Given the description of an element on the screen output the (x, y) to click on. 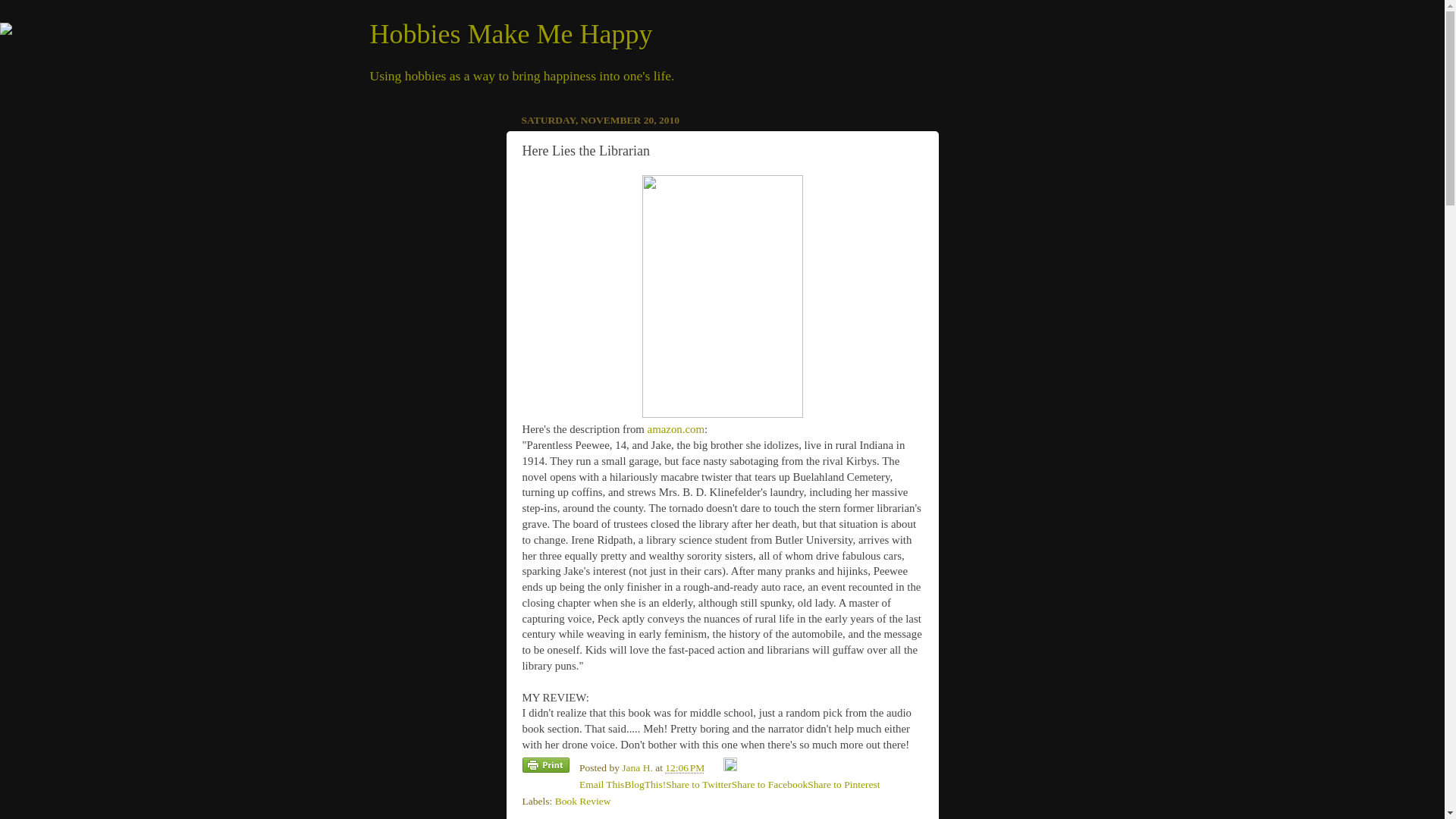
Share to Twitter (698, 784)
BlogThis! (644, 784)
Printer Friendly and PDF (545, 767)
Email This (601, 784)
Email Post (715, 767)
permanent link (684, 767)
Share to Facebook (770, 784)
author profile (638, 767)
Share to Facebook (770, 784)
Hobbies Make Me Happy (510, 33)
BlogThis! (644, 784)
Share to Twitter (698, 784)
Jana H. (638, 767)
amazon.com (675, 428)
Edit Post (729, 767)
